Given the description of an element on the screen output the (x, y) to click on. 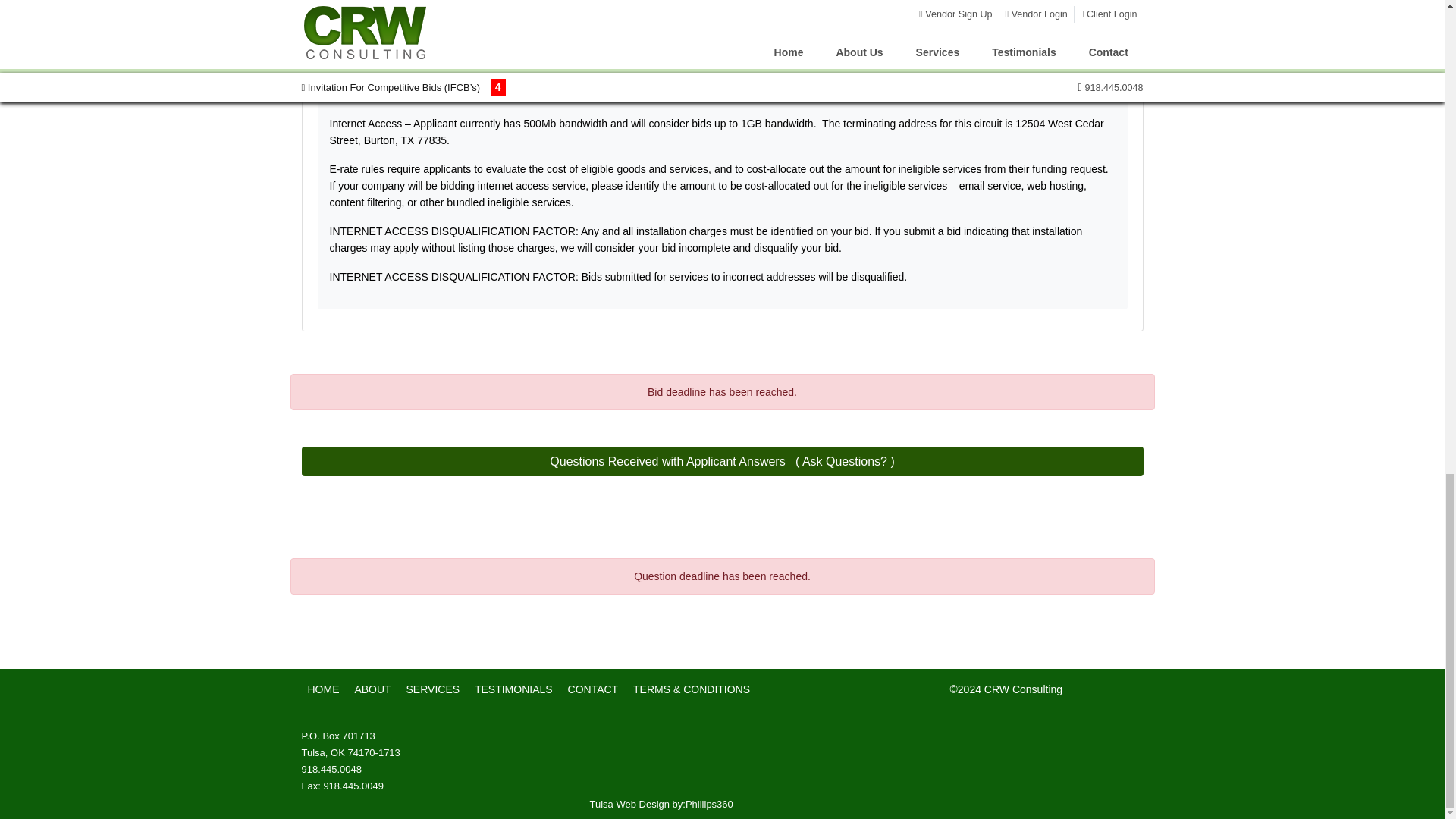
SERVICES (433, 689)
Phillips360 (709, 804)
HOME (323, 689)
ABOUT (371, 689)
CONTACT (592, 689)
918.445.0048 (331, 768)
TESTIMONIALS (513, 689)
918.445.0048 (331, 768)
